Given the description of an element on the screen output the (x, y) to click on. 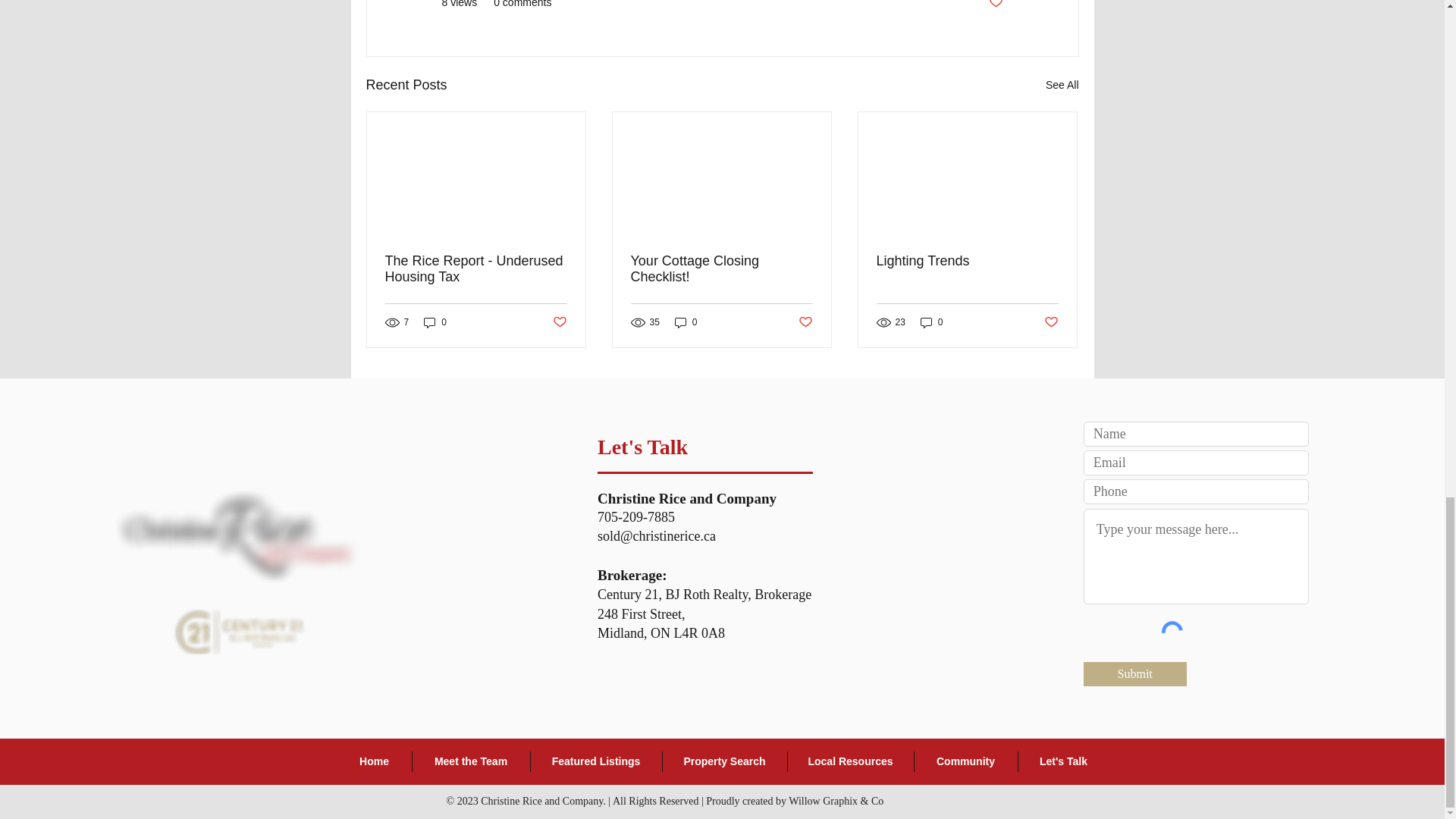
0 (931, 321)
Property Search (724, 761)
Post not marked as liked (558, 322)
Lighting Trends (967, 261)
The Rice Report - Underused Housing Tax (476, 269)
Your Cottage Closing Checklist! (721, 269)
Post not marked as liked (995, 5)
Meet the Team (470, 761)
See All (1061, 85)
Post not marked as liked (1050, 322)
0 (685, 321)
Submit (1134, 673)
Featured Listings (596, 761)
Home (373, 761)
0 (435, 321)
